Given the description of an element on the screen output the (x, y) to click on. 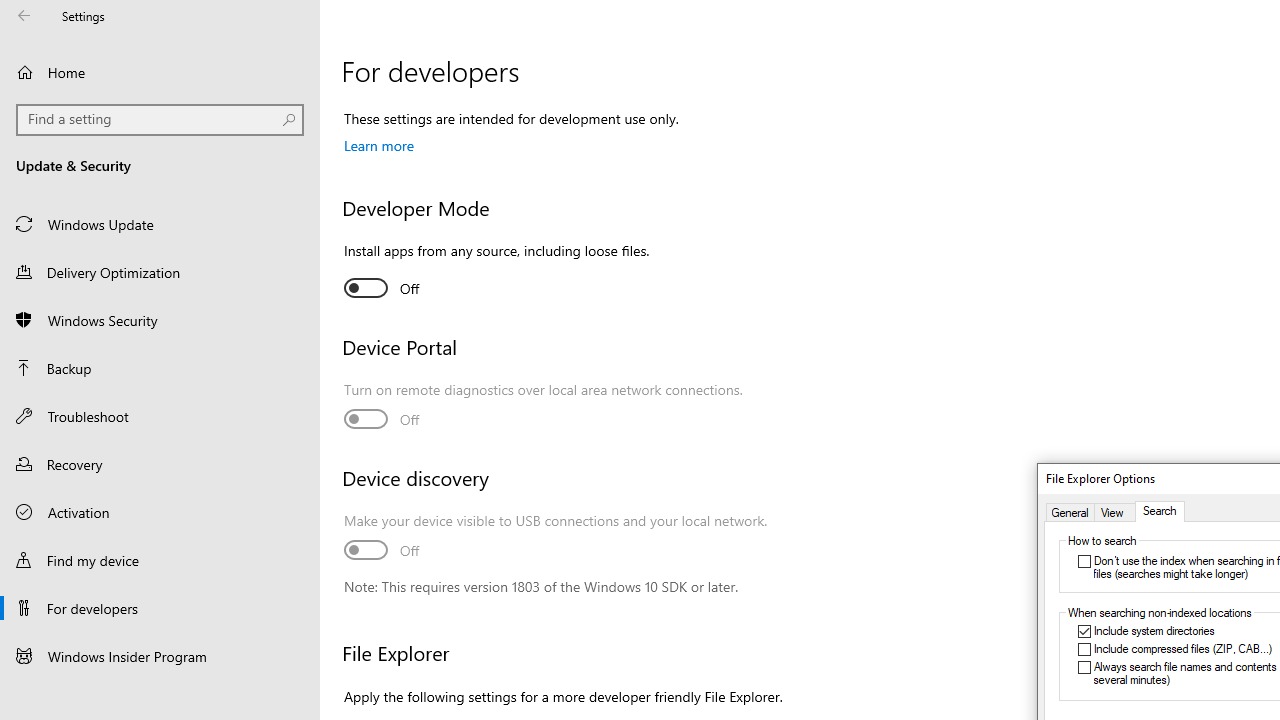
Search (1159, 512)
General (1069, 512)
View (1115, 512)
